Given the description of an element on the screen output the (x, y) to click on. 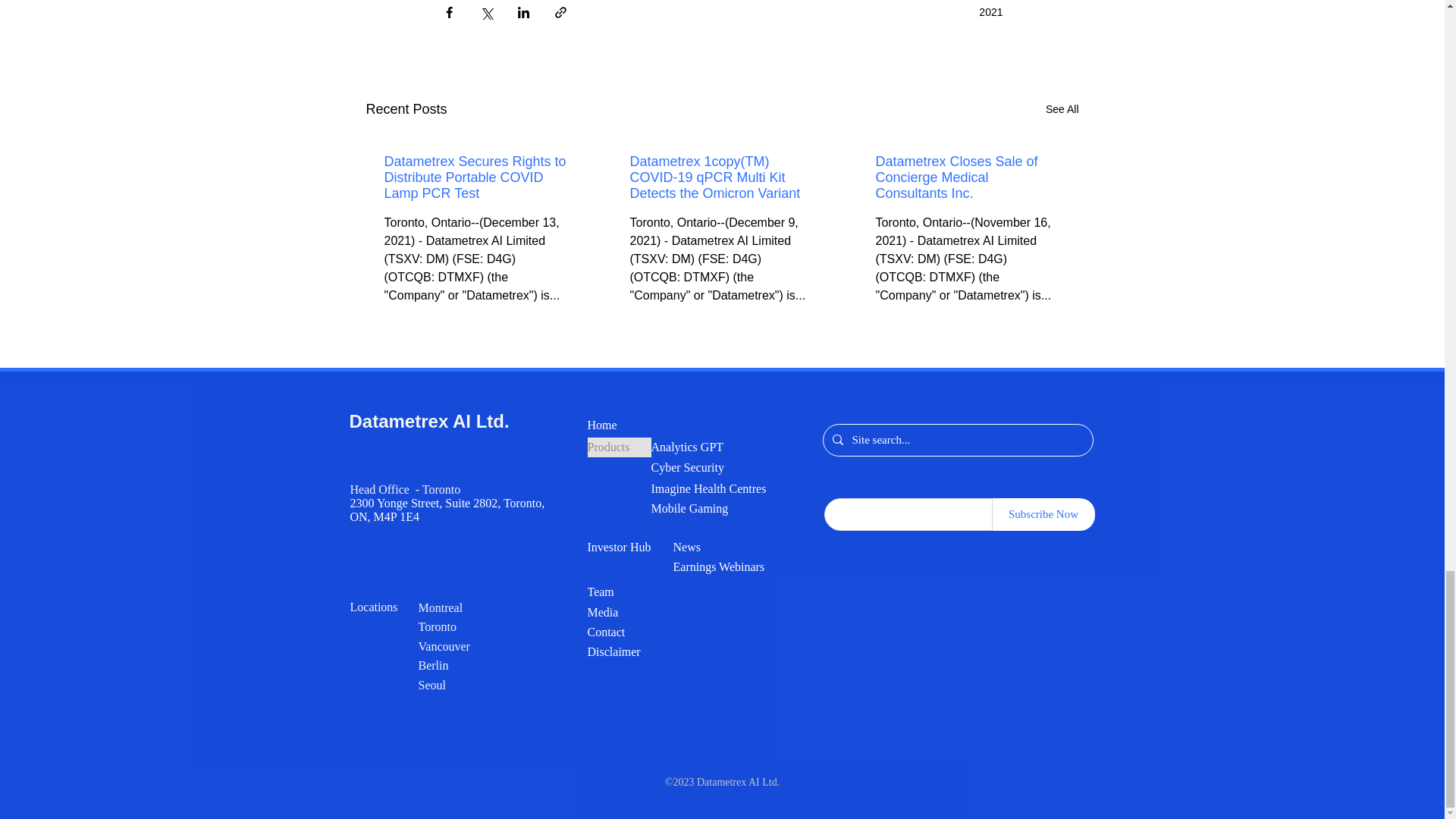
Products (618, 447)
Cyber Security (707, 467)
Mobile Gaming (701, 508)
Imagine Health Centres (723, 488)
Home (618, 424)
2021 (990, 11)
See All (1061, 109)
Analytics GPT (707, 447)
Datametrex Closes Sale of Concierge Medical Consultants Inc. (966, 176)
